Given the description of an element on the screen output the (x, y) to click on. 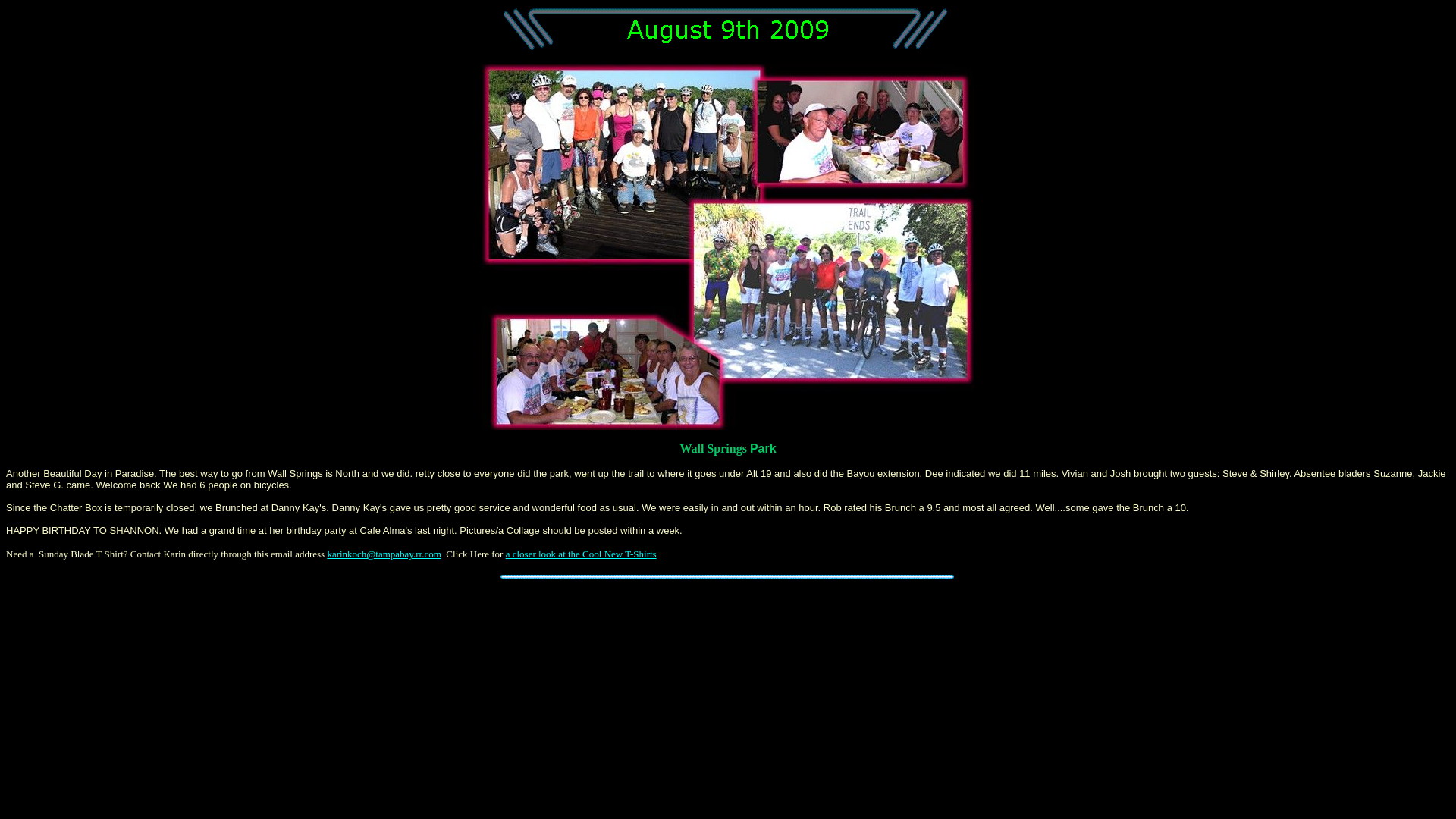
a closer look at the Cool New T-Shirts (580, 553)
